Given the description of an element on the screen output the (x, y) to click on. 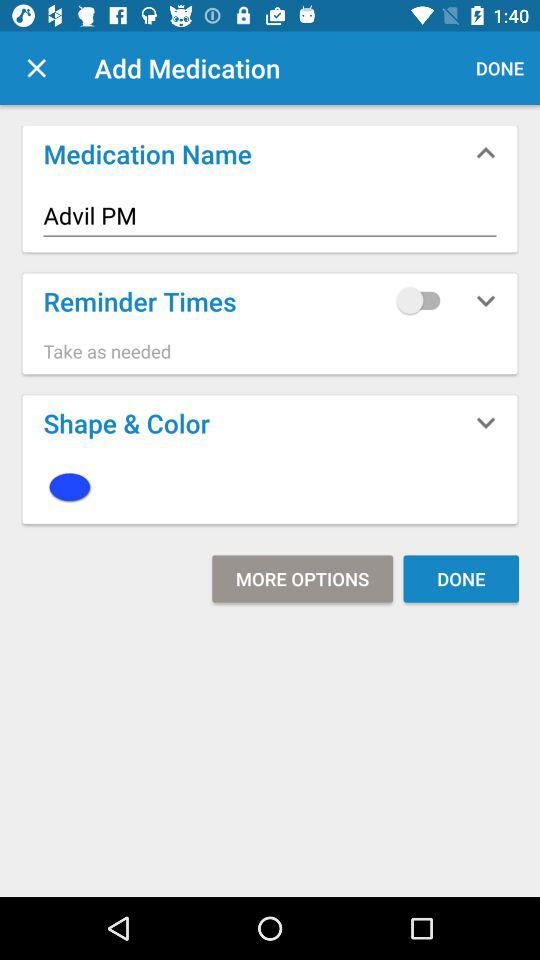
choose icon to the left of the add medication item (36, 68)
